Given the description of an element on the screen output the (x, y) to click on. 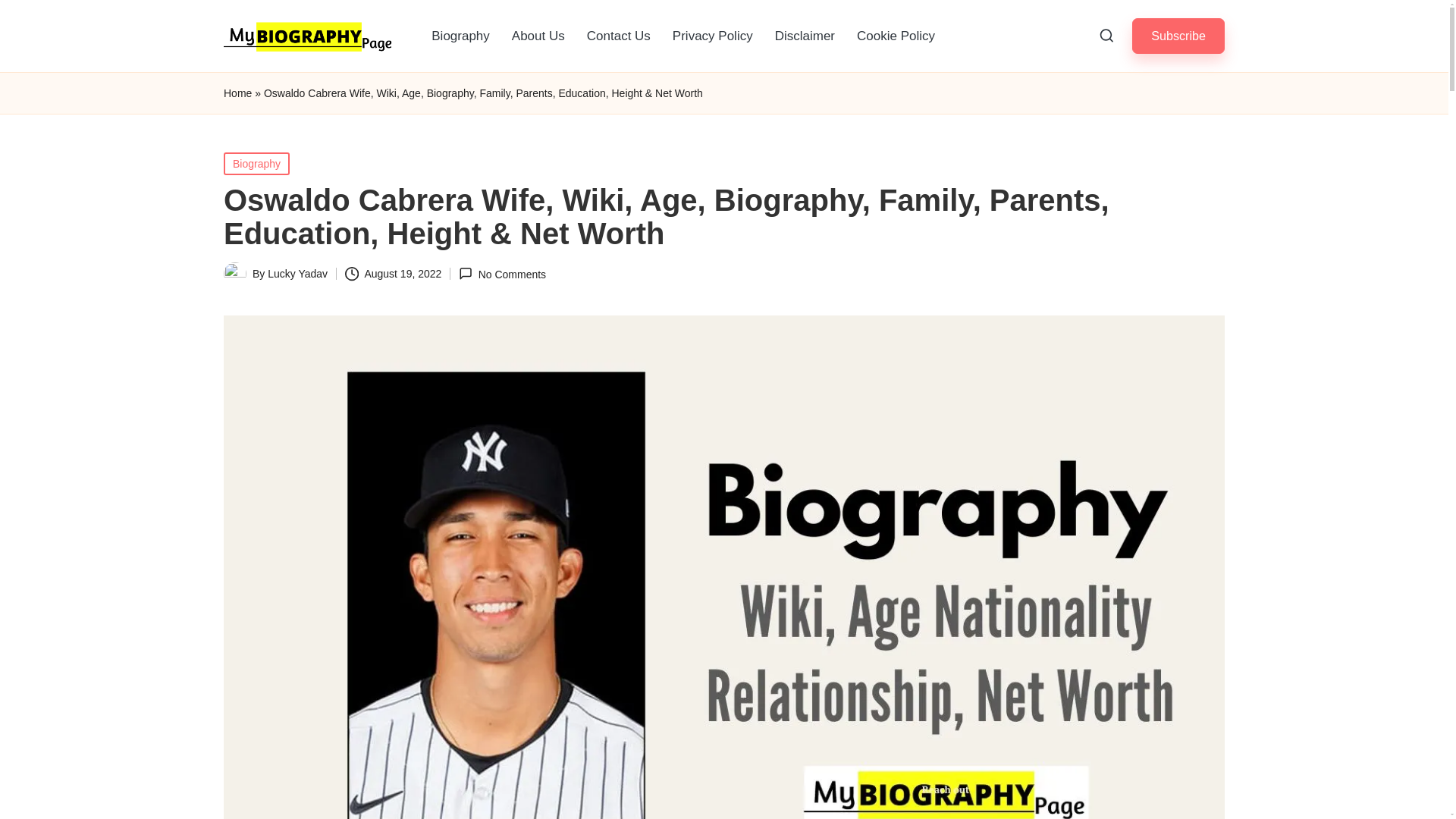
Lucky Yadav (297, 273)
Biography (460, 36)
Subscribe (1178, 36)
Contact Us (618, 36)
Biography (256, 163)
No Comments (502, 273)
Privacy Policy (712, 36)
View all posts by Lucky Yadav (297, 273)
About Us (537, 36)
Cookie Policy (894, 36)
Home (237, 93)
Disclaimer (804, 36)
